Given the description of an element on the screen output the (x, y) to click on. 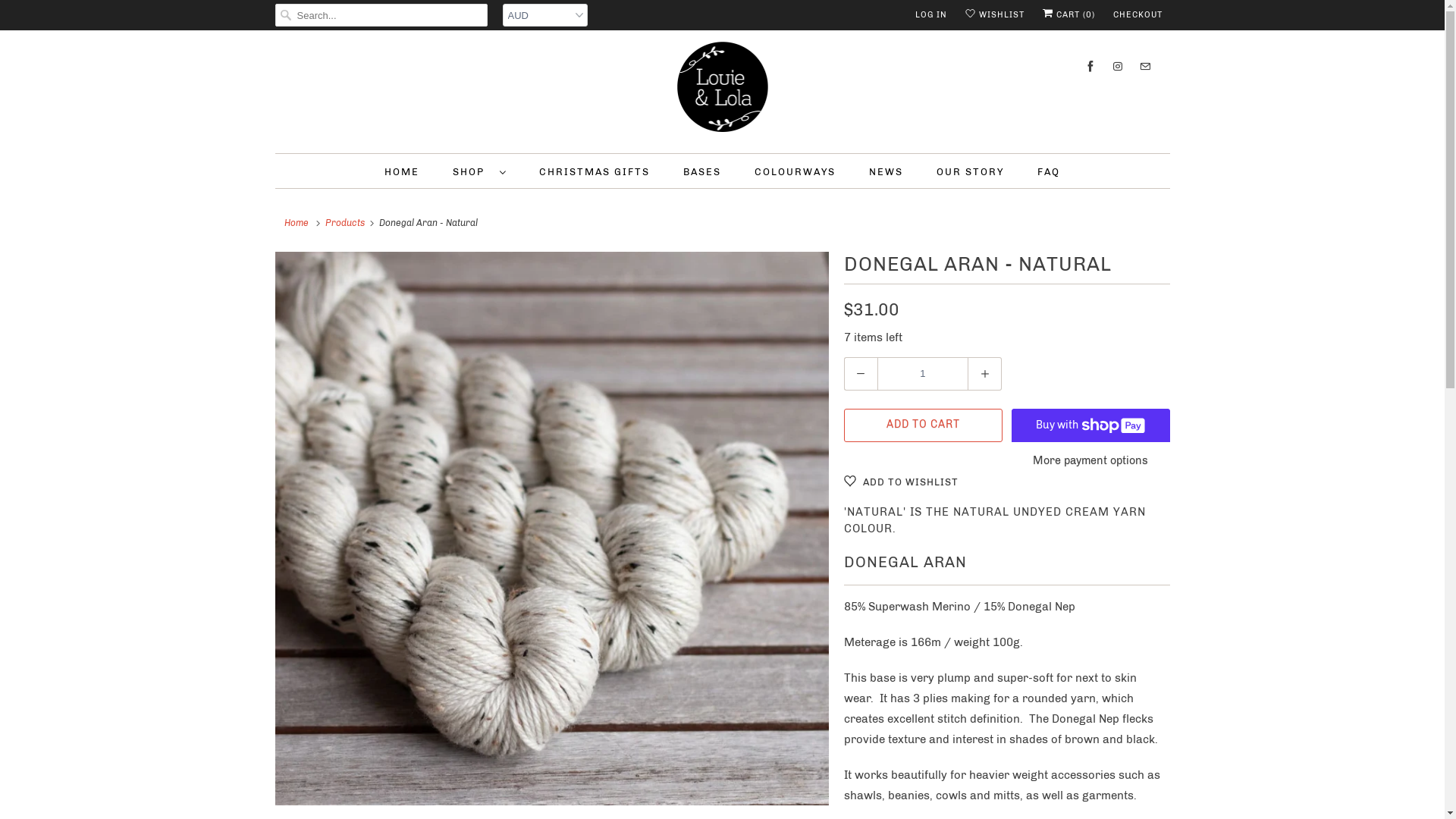
Home Element type: text (296, 222)
OUR STORY Element type: text (970, 171)
Products Element type: text (344, 222)
ADD TO CART Element type: text (922, 425)
ADD TO WISHLIST Element type: text (900, 480)
FAQ Element type: text (1048, 171)
CART (0) Element type: text (1067, 14)
BASES Element type: text (702, 171)
COLOURWAYS Element type: text (794, 171)
Louie & Lola Yarns on Instagram Element type: hover (1116, 66)
Louie & Lola Yarns Element type: hover (721, 89)
LOG IN Element type: text (930, 14)
Email Louie & Lola Yarns Element type: hover (1144, 66)
More payment options Element type: text (1089, 465)
HOME Element type: text (401, 171)
NEWS Element type: text (886, 171)
Louie & Lola Yarns on Facebook Element type: hover (1089, 66)
CHRISTMAS GIFTS Element type: text (594, 171)
WISHLIST Element type: text (993, 14)
SHOP  Element type: text (478, 171)
Donegal Aran - Natural Element type: hover (551, 528)
CHECKOUT Element type: text (1137, 14)
